Given the description of an element on the screen output the (x, y) to click on. 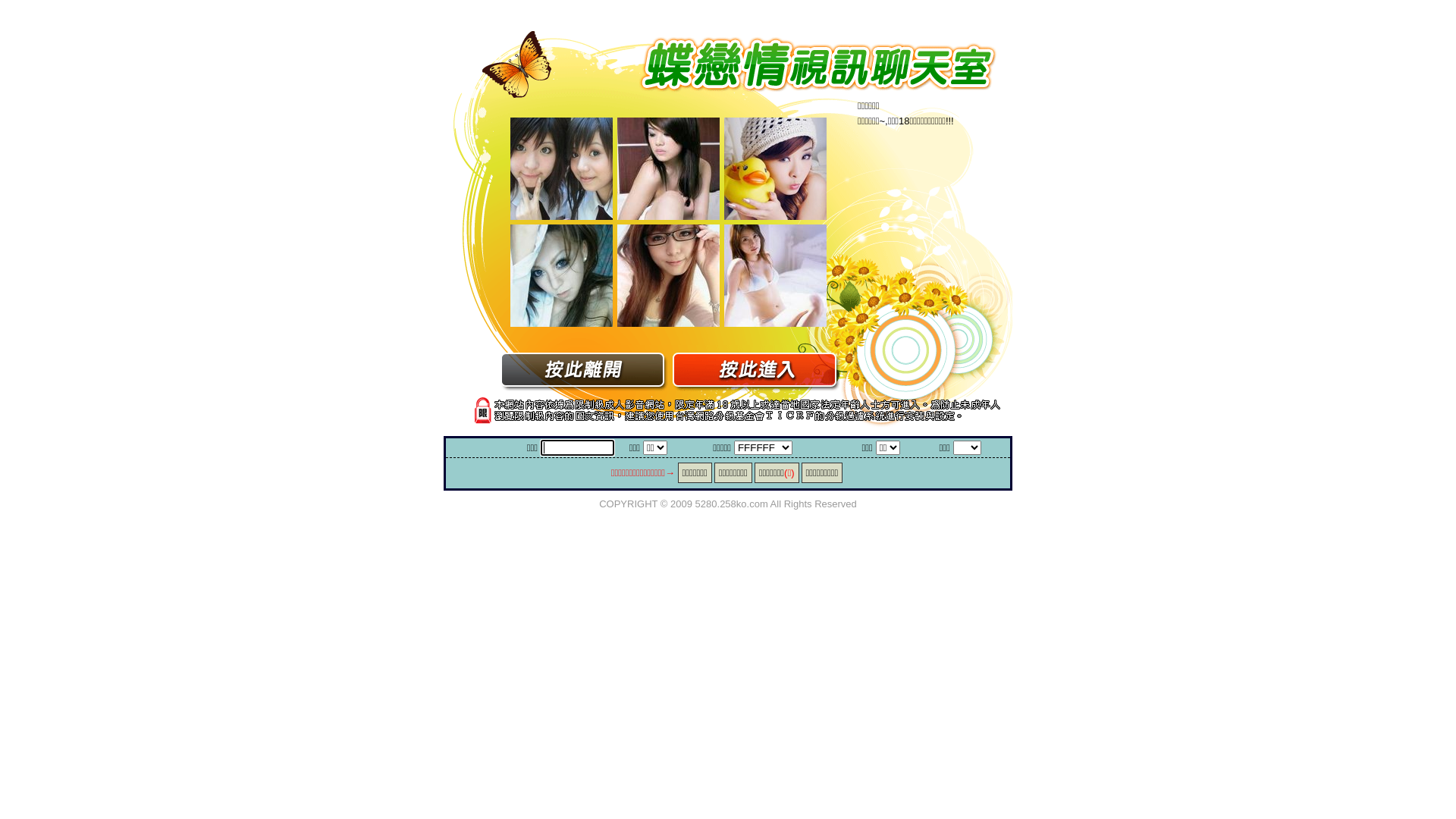
5280.258ko.com Element type: text (731, 502)
